Given the description of an element on the screen output the (x, y) to click on. 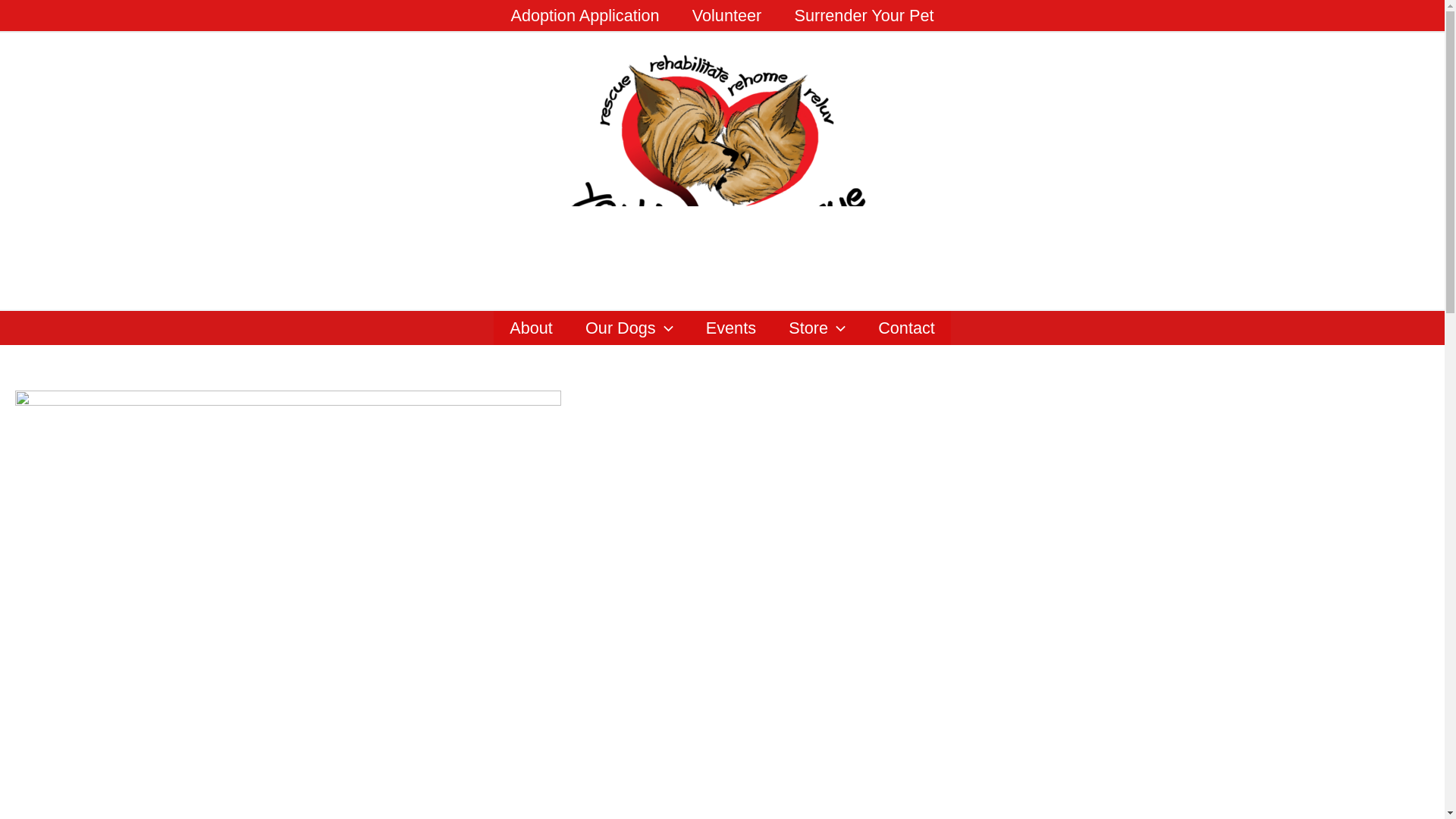
Volunteer (726, 15)
Our Dogs (628, 327)
Events (729, 327)
Store (817, 327)
Surrender Your Pet (863, 15)
Contact (906, 327)
About (531, 327)
Adoption Application (585, 15)
